Given the description of an element on the screen output the (x, y) to click on. 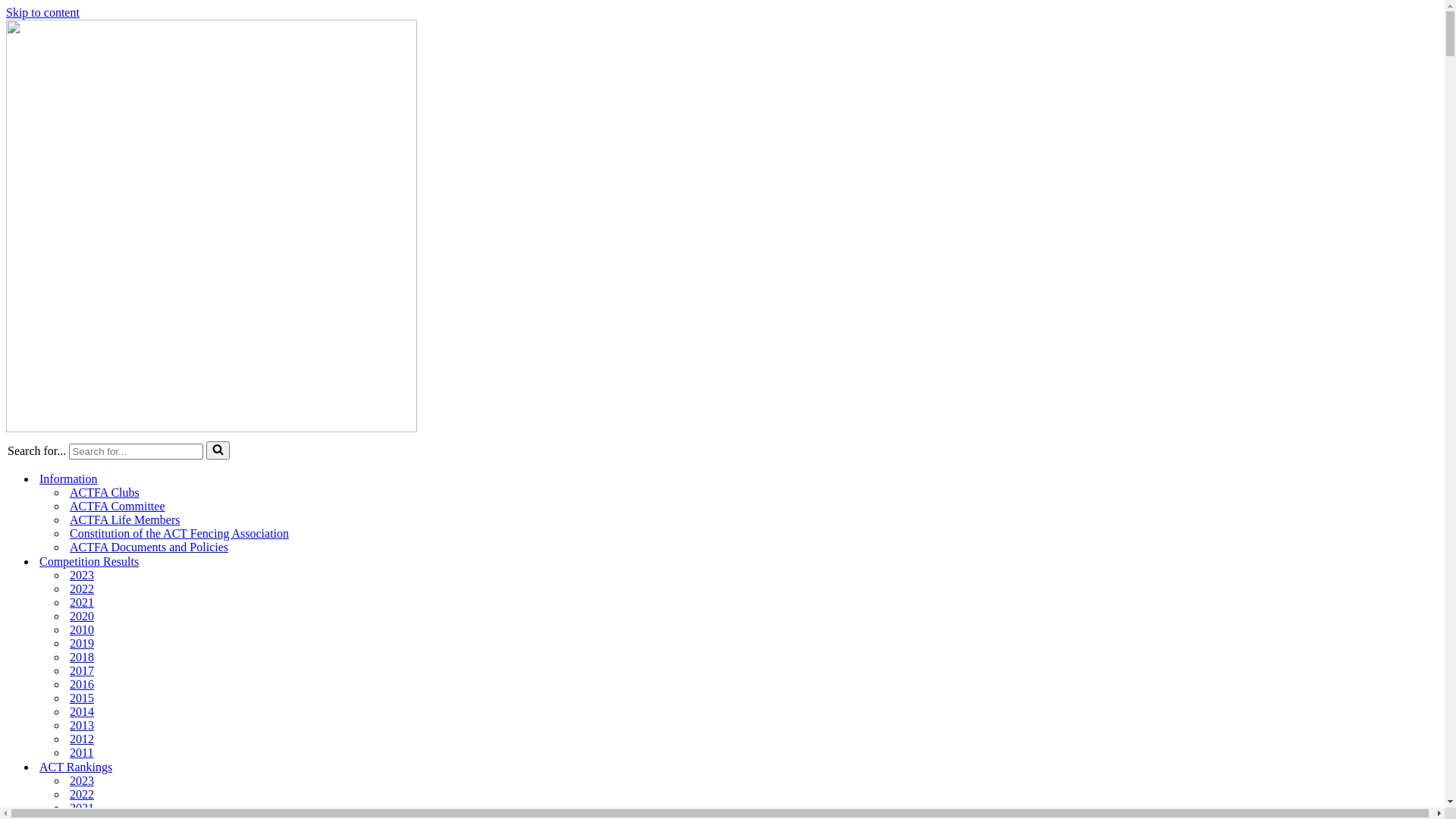
2023 Element type: text (81, 780)
Information Element type: text (68, 478)
2022 Element type: text (81, 794)
2014 Element type: text (81, 711)
ACT Rankings Element type: text (75, 766)
2017 Element type: text (81, 670)
Skip to content Element type: text (42, 12)
ACTFA Life Members Element type: text (124, 520)
2022 Element type: text (81, 589)
2010 Element type: text (81, 630)
ACTFA Committee Element type: text (116, 506)
2011 Element type: text (81, 752)
ACTFA Clubs Element type: text (104, 492)
ACTFA Documents and Policies Element type: text (148, 547)
2018 Element type: text (81, 657)
Constitution of the ACT Fencing Association Element type: text (178, 533)
2021 Element type: text (81, 602)
2015 Element type: text (81, 698)
2016 Element type: text (81, 684)
Competition Results Element type: text (88, 561)
2012 Element type: text (81, 739)
2013 Element type: text (81, 725)
2020 Element type: text (81, 616)
2021 Element type: text (81, 808)
2019 Element type: text (81, 643)
2023 Element type: text (81, 575)
